Given the description of an element on the screen output the (x, y) to click on. 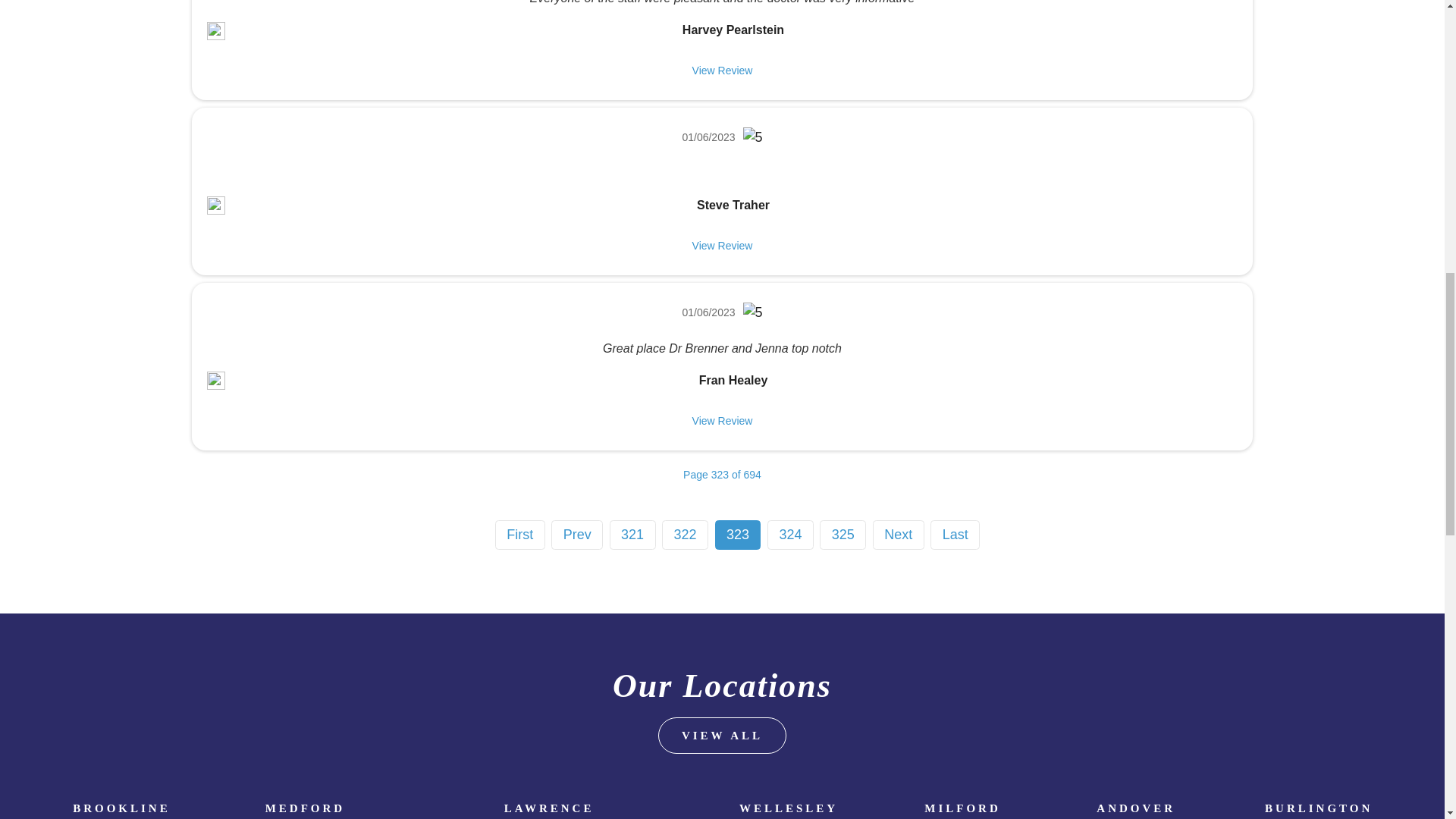
Google Business Profile (215, 30)
Google Business Profile (215, 380)
5 (752, 137)
5 (752, 312)
Google Business Profile (215, 205)
